Given the description of an element on the screen output the (x, y) to click on. 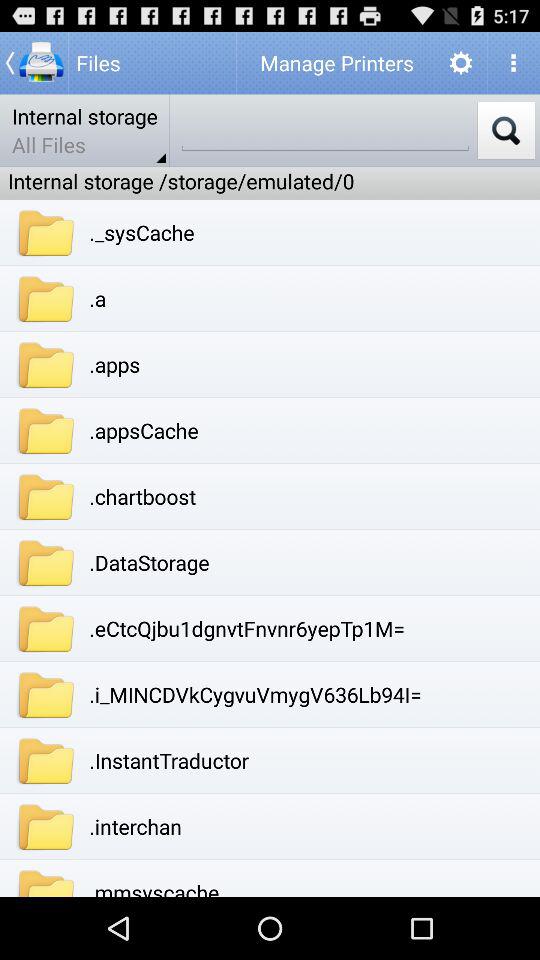
turn off the icon above .apps icon (97, 298)
